Given the description of an element on the screen output the (x, y) to click on. 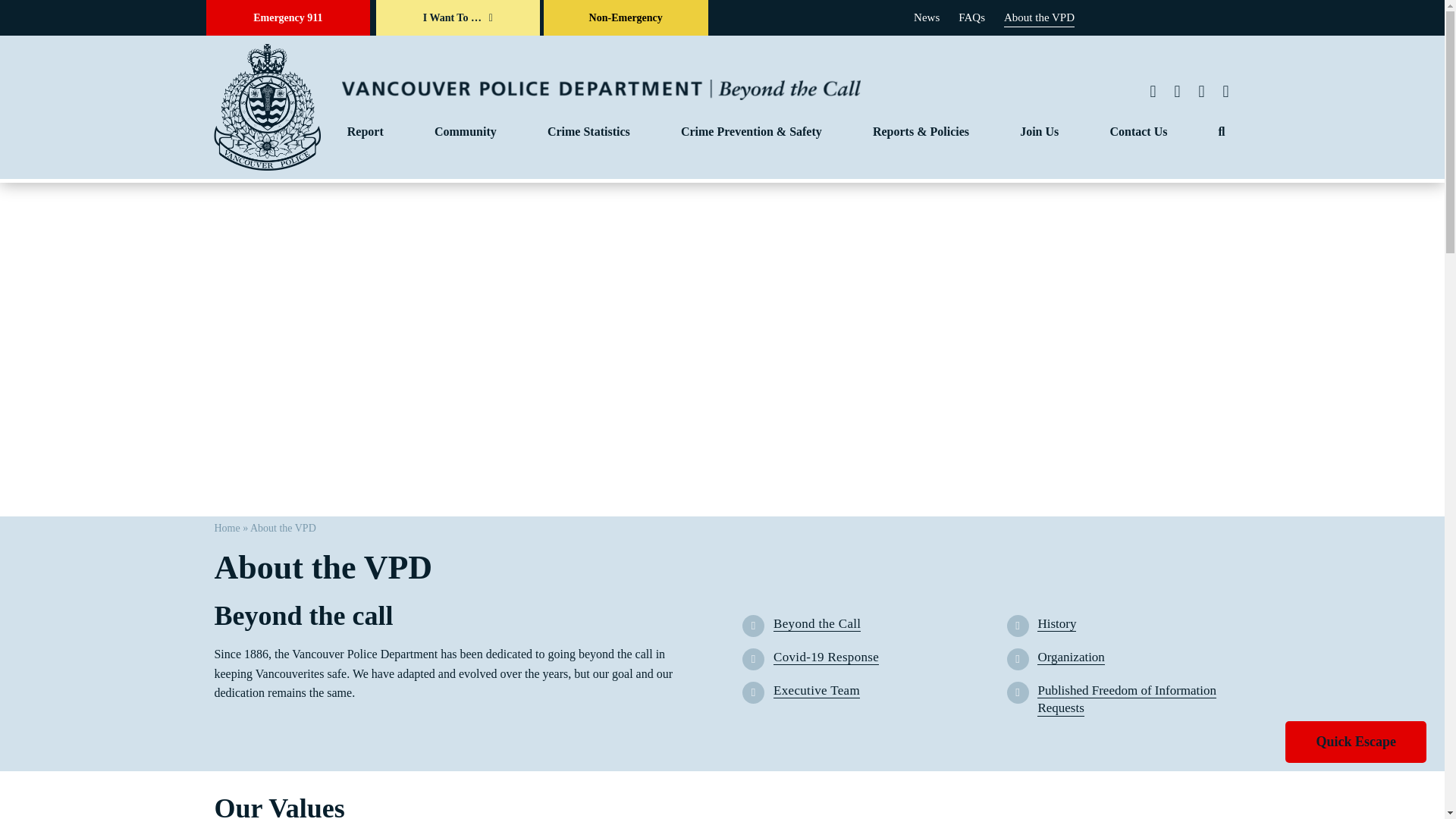
About the VPD (1039, 17)
Non-Emergency (625, 18)
Report (365, 131)
Emergency 911 (287, 18)
FAQs (971, 17)
beyond-the-call (601, 89)
News (926, 17)
